Given the description of an element on the screen output the (x, y) to click on. 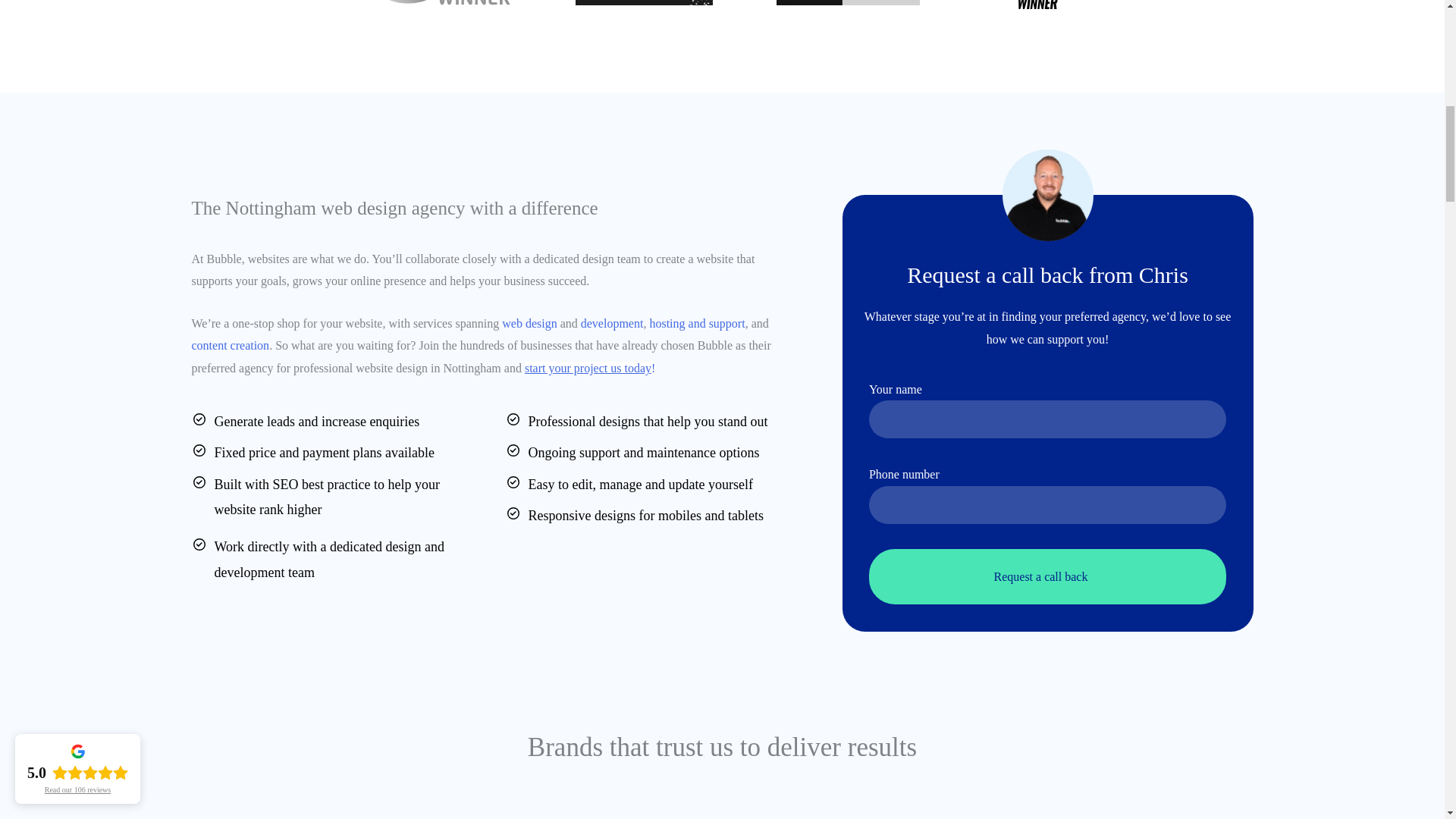
Request a call back (1047, 576)
